Given the description of an element on the screen output the (x, y) to click on. 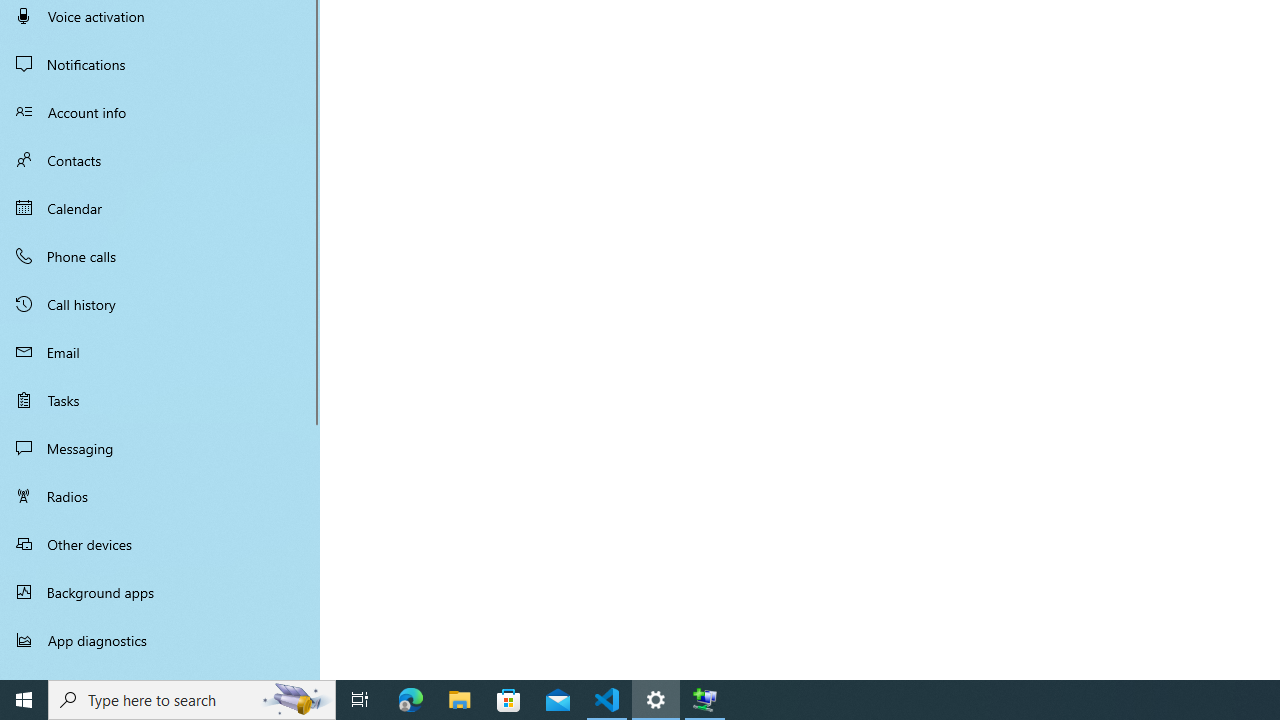
Email (160, 351)
Phone calls (160, 255)
Radios (160, 495)
App diagnostics (160, 639)
Tasks (160, 399)
Settings - 1 running window (656, 699)
Call history (160, 304)
Messaging (160, 448)
Automatic file downloads (160, 671)
Background apps (160, 592)
